Given the description of an element on the screen output the (x, y) to click on. 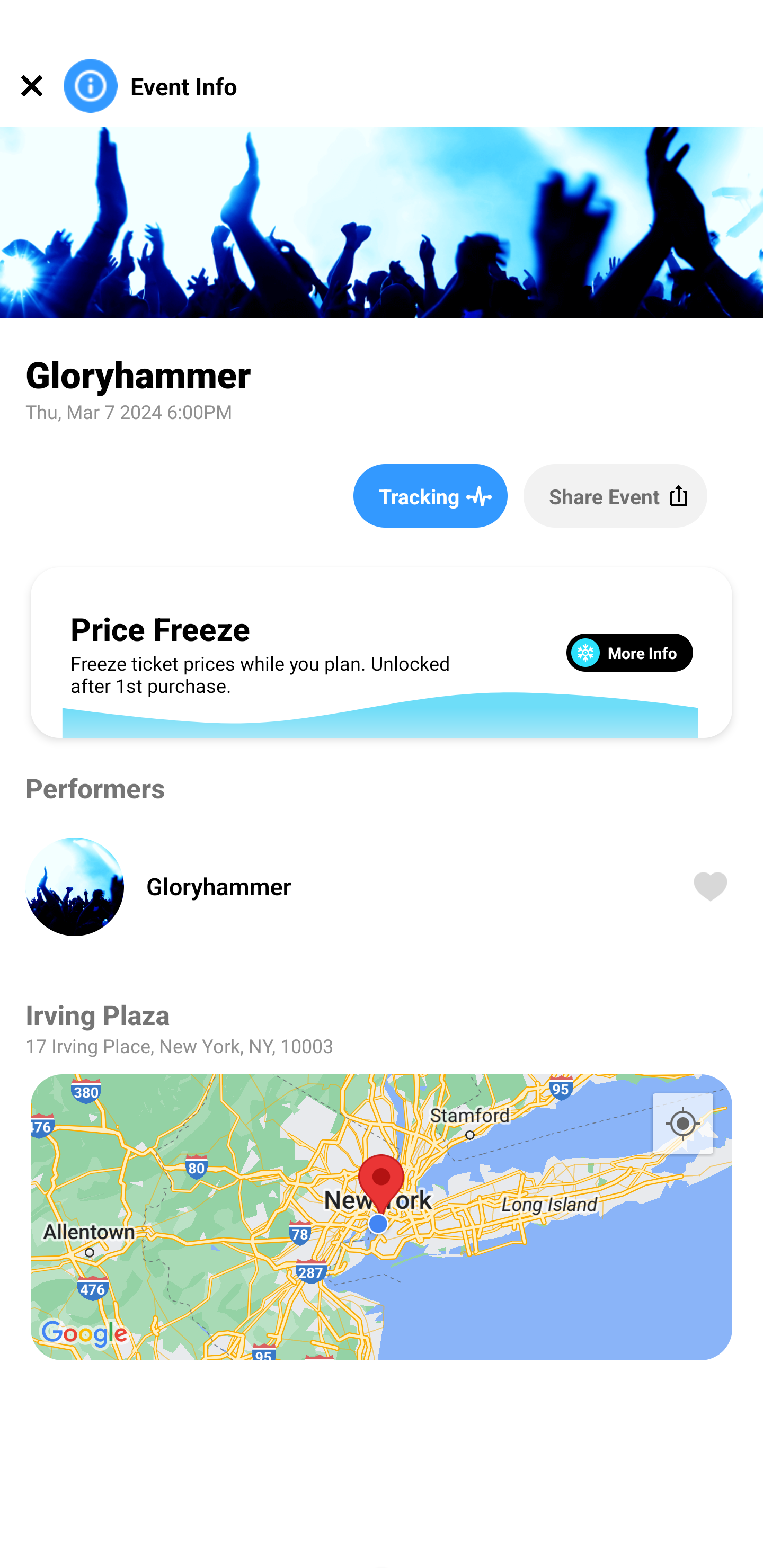
Tracking (430, 495)
Share Event (615, 495)
More Info (629, 652)
Gloryhammer (394, 886)
Google Map Irving Plaza My Location (381, 1217)
My Location (682, 1123)
